Given the description of an element on the screen output the (x, y) to click on. 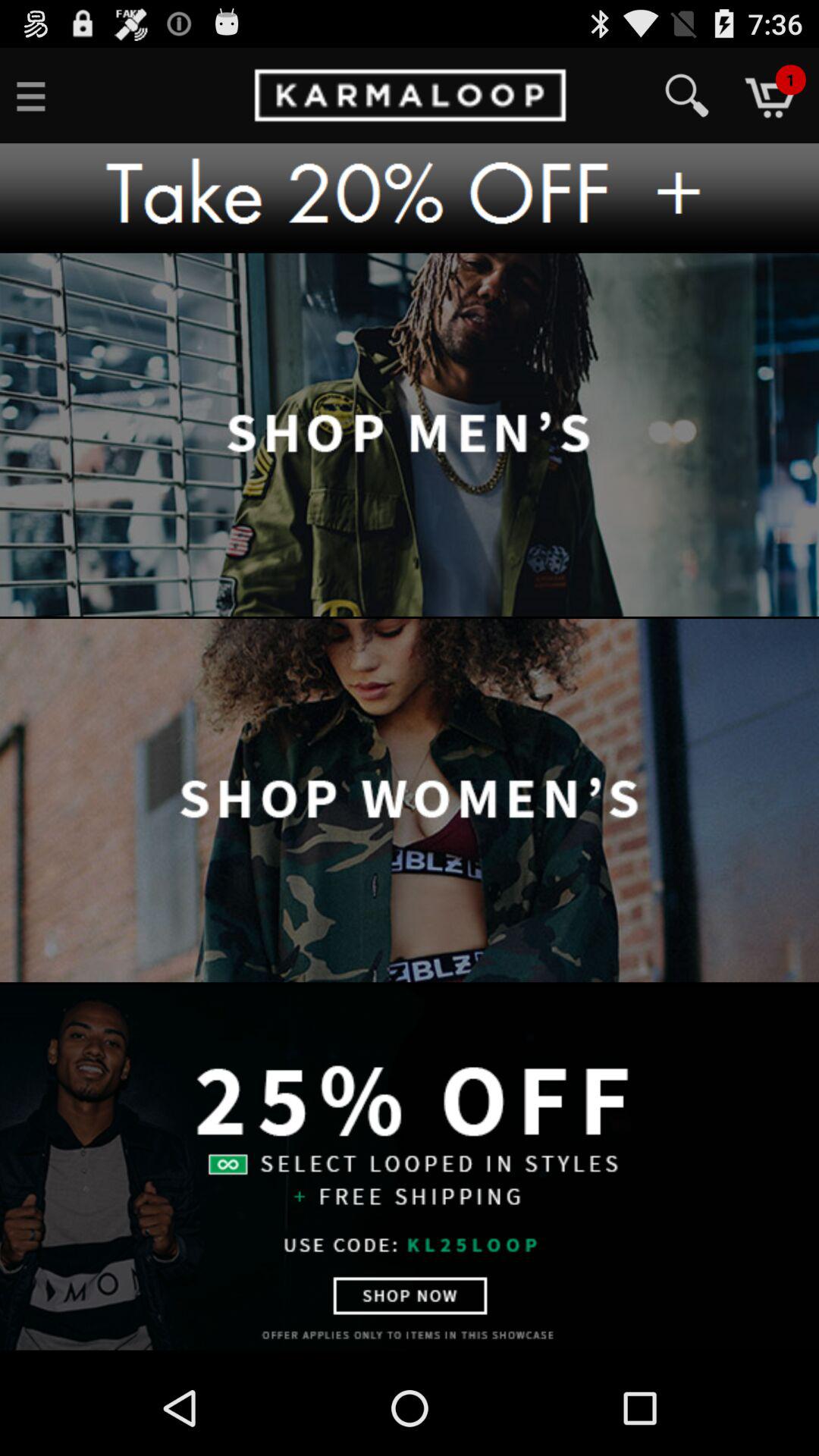
shop men 's clothing (409, 435)
